Given the description of an element on the screen output the (x, y) to click on. 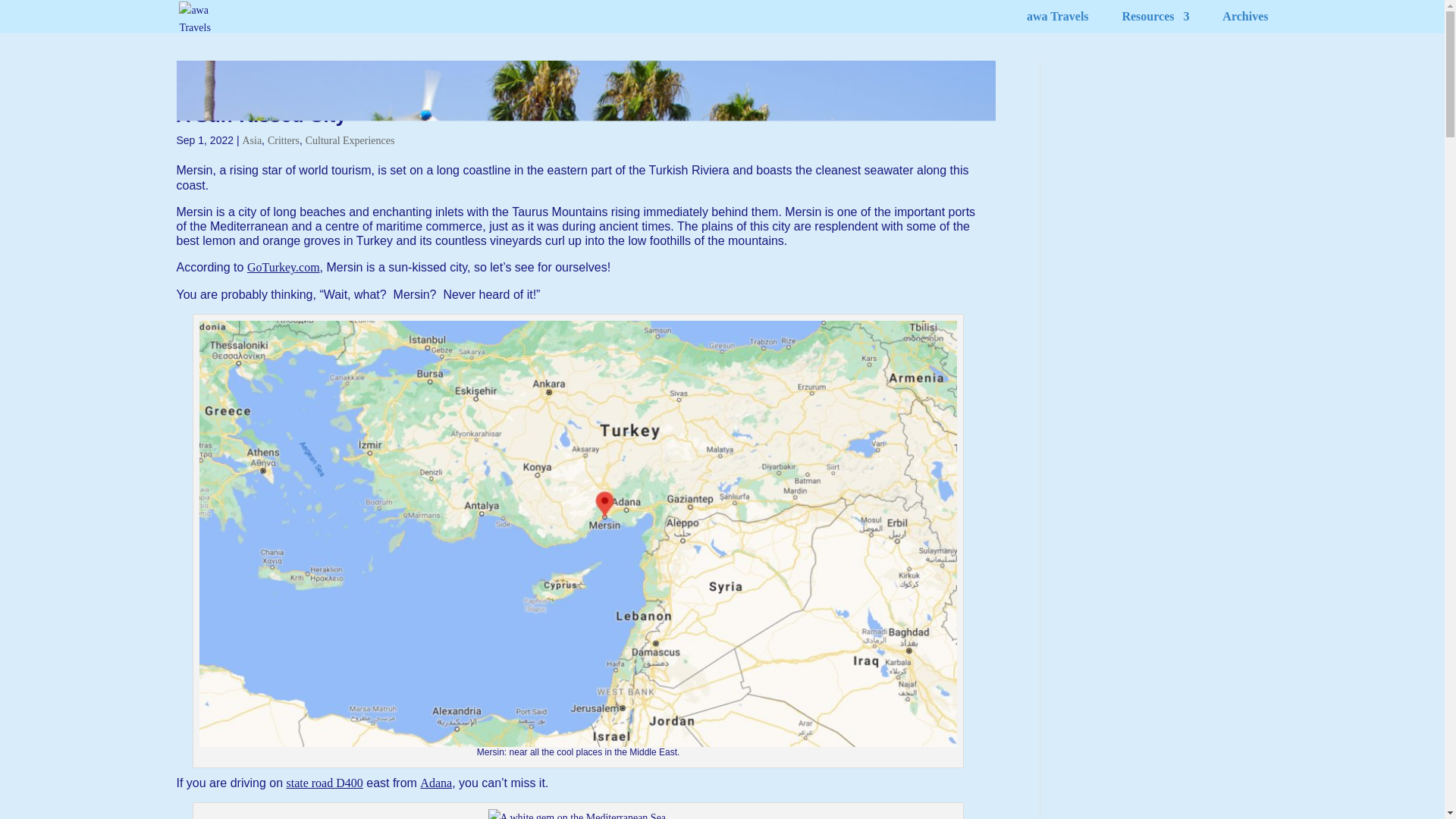
Cultural Experiences (349, 140)
Resources (1155, 22)
Adana (435, 782)
GoTurkey.com (283, 267)
awa Travels (1057, 22)
state road D400 (323, 782)
Critters (283, 140)
Archives (1245, 22)
Asia (251, 140)
